Given the description of an element on the screen output the (x, y) to click on. 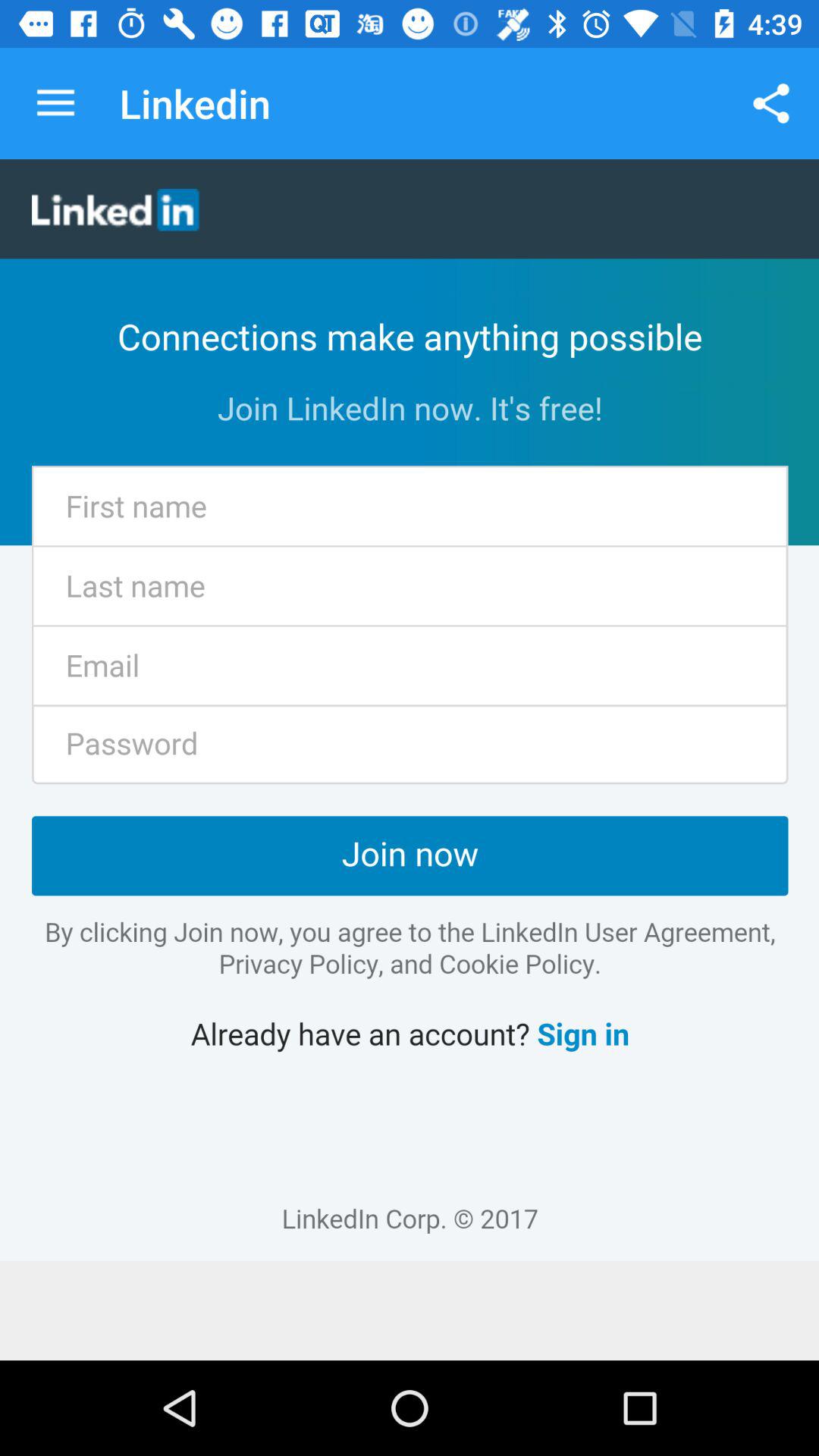
linkedin details page icon (409, 709)
